Given the description of an element on the screen output the (x, y) to click on. 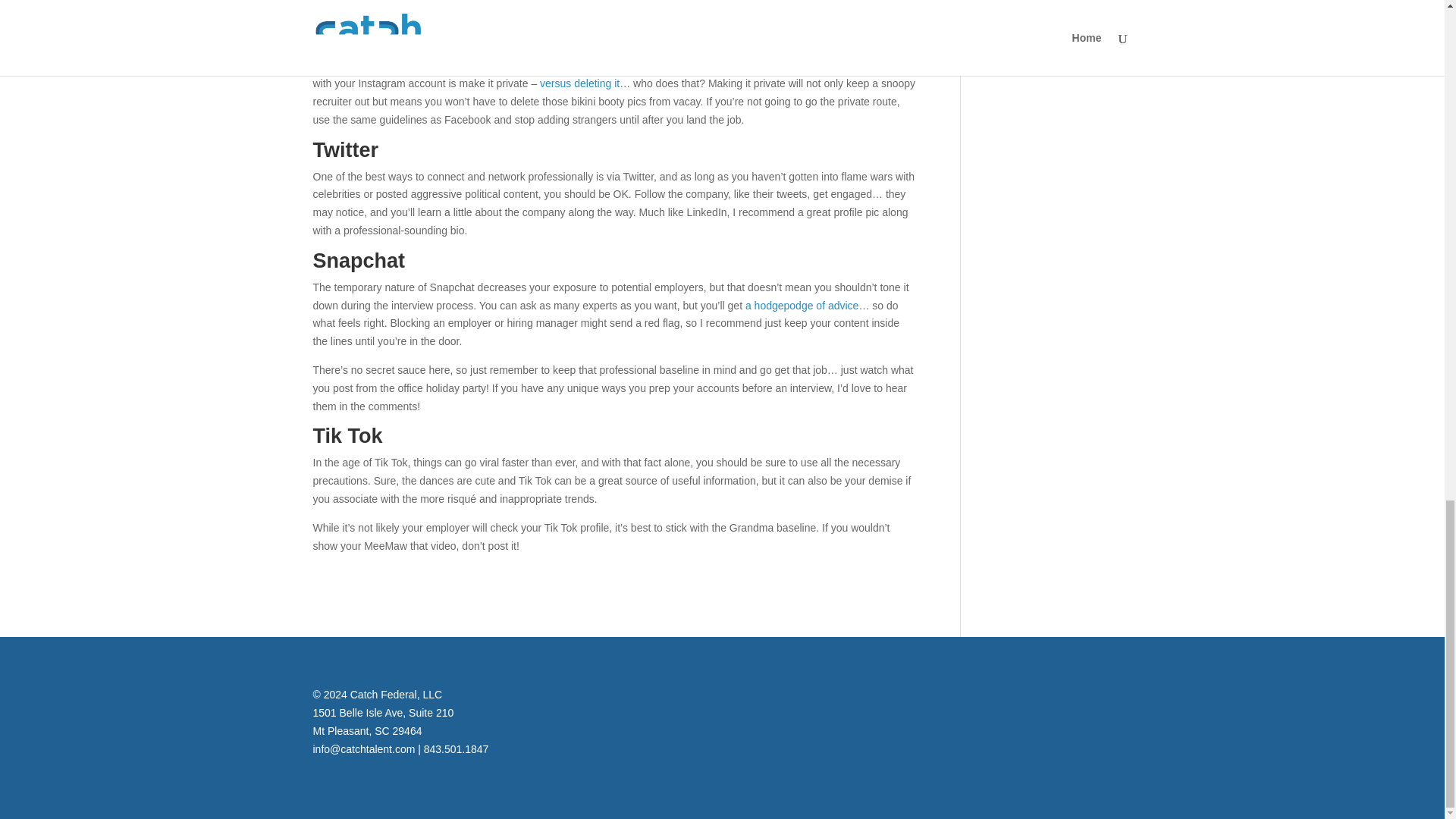
a hodgepodge of advice (802, 305)
versus deleting it (580, 82)
